Given the description of an element on the screen output the (x, y) to click on. 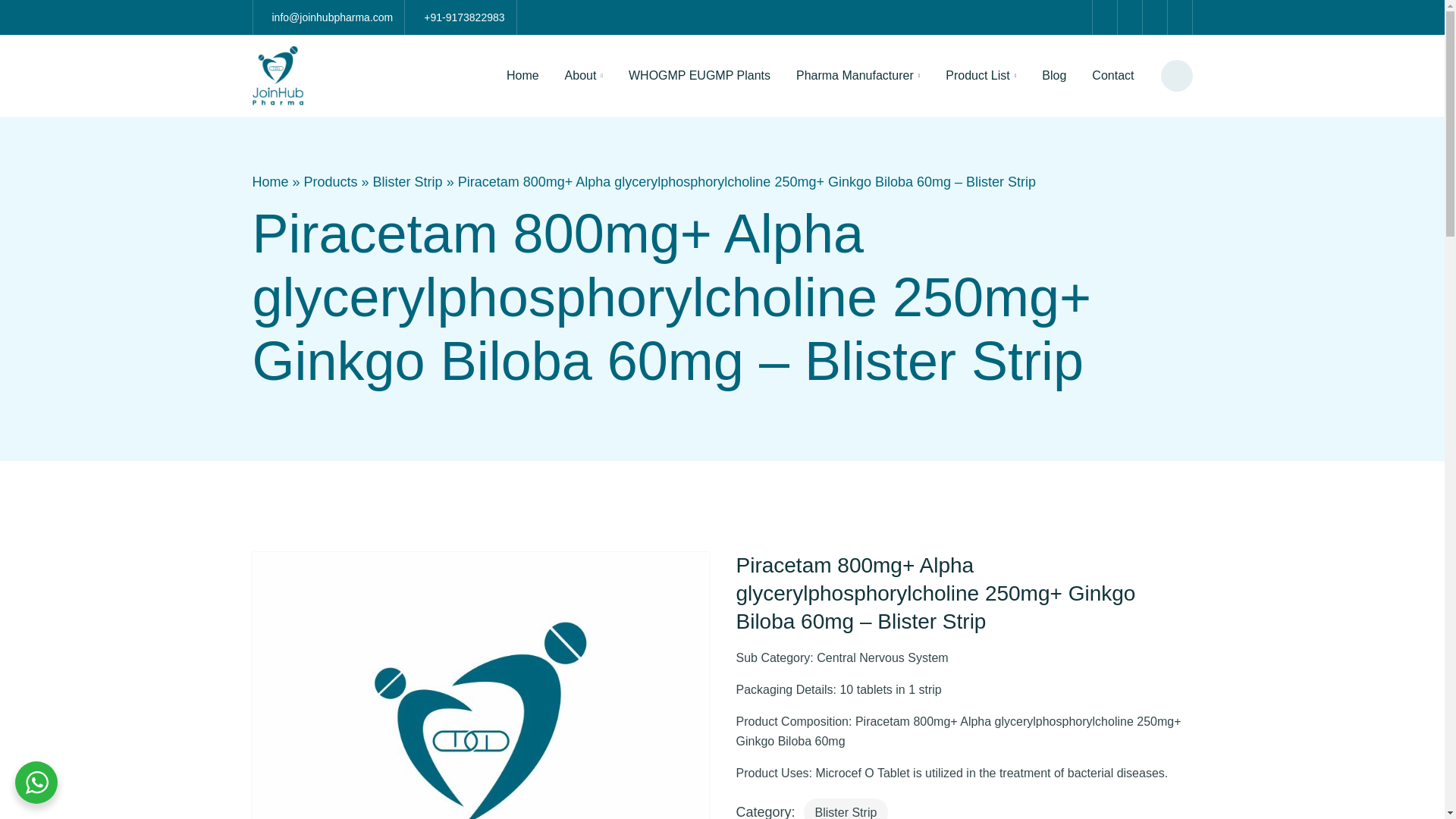
About Us (583, 75)
Blister Strip (407, 181)
Product List (981, 75)
WHOGMP EUGMP Plants (699, 75)
Pharma Manufacturer (857, 75)
WHOGMP EUGMP Plants (699, 75)
About (583, 75)
Contact (1112, 75)
Home (522, 75)
Pharma Manufacturer (857, 75)
Home (522, 75)
Home (269, 181)
Blog (1054, 75)
Products (331, 181)
